Given the description of an element on the screen output the (x, y) to click on. 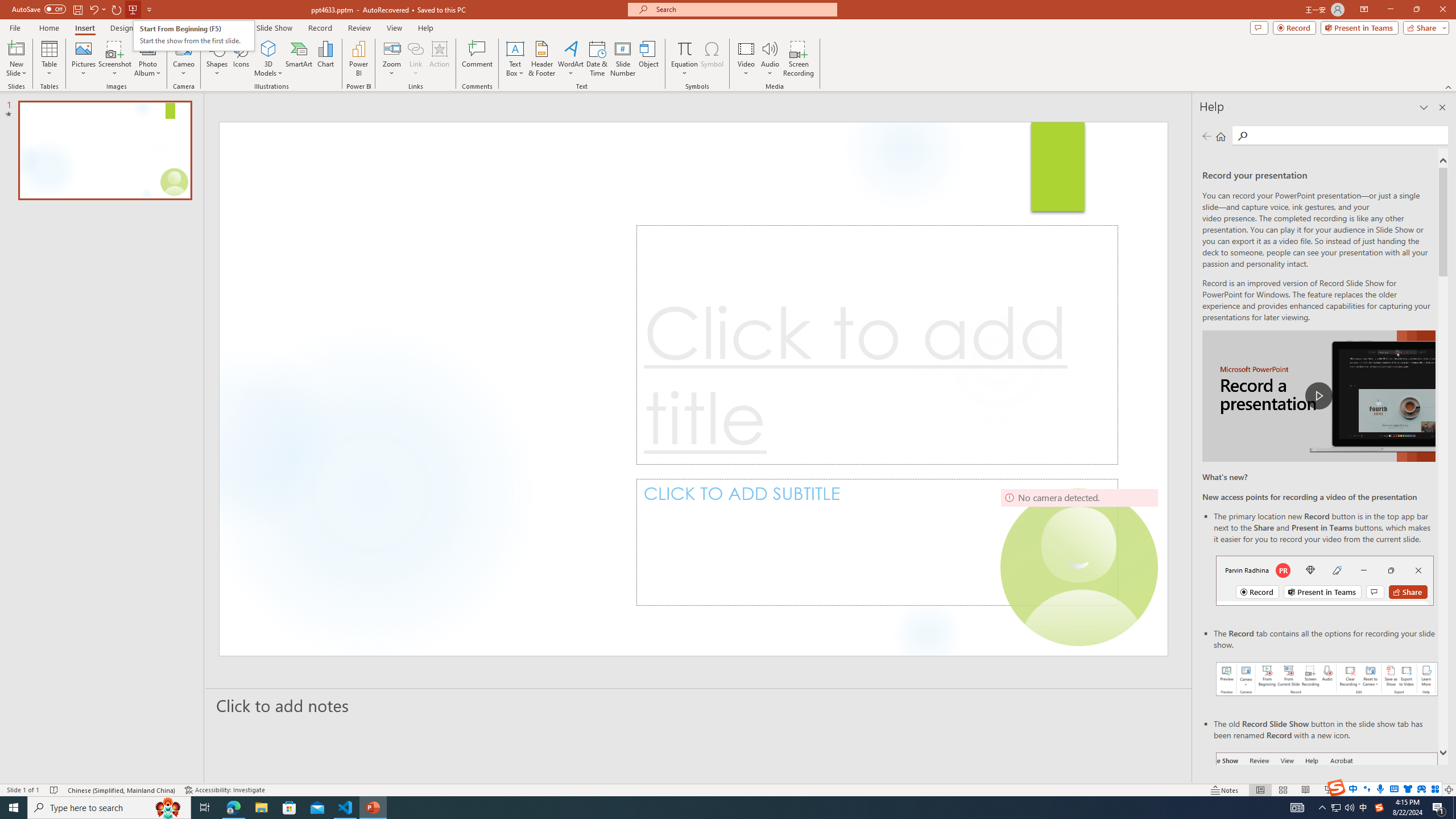
Record your presentations screenshot one (1326, 678)
Equation (683, 48)
Chart... (325, 58)
Equation (683, 58)
